Given the description of an element on the screen output the (x, y) to click on. 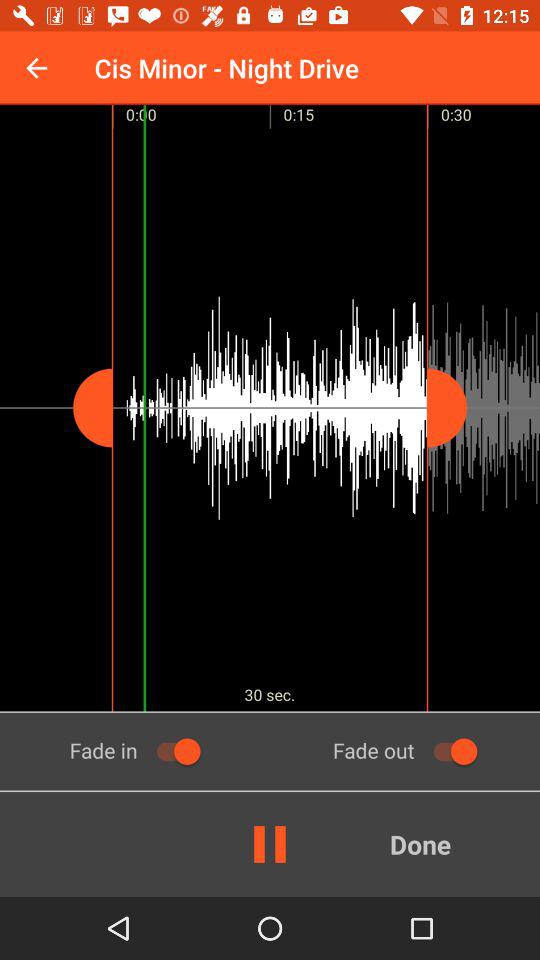
press icon to the left of done (269, 843)
